Given the description of an element on the screen output the (x, y) to click on. 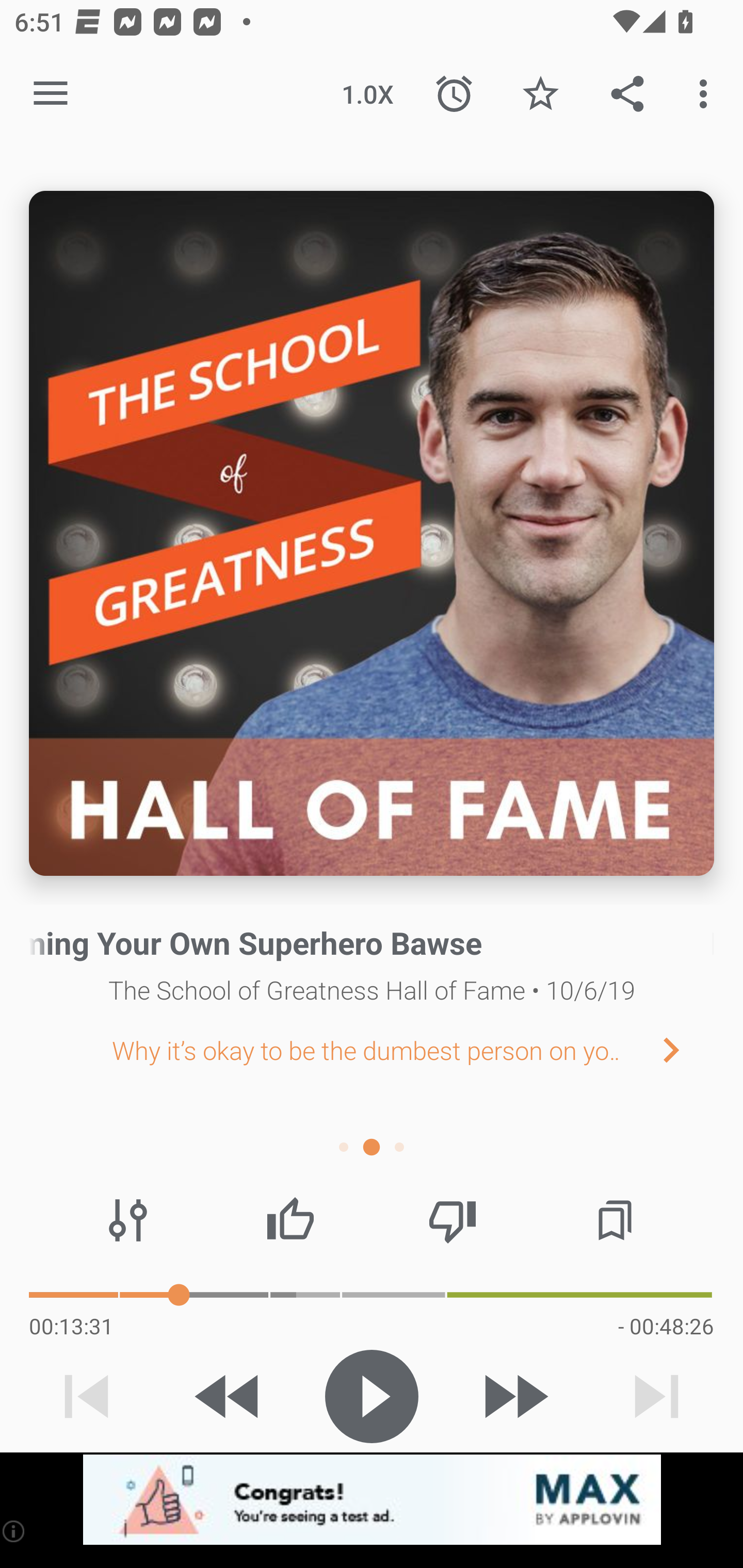
Open navigation sidebar (50, 93)
1.0X (366, 93)
Sleep Timer (453, 93)
Favorite (540, 93)
Share (626, 93)
More options (706, 93)
Episode description (371, 533)
Next Chapter (686, 1049)
Audio effects (127, 1220)
Thumbs up (290, 1220)
Thumbs down (452, 1220)
Chapters / Bookmarks (614, 1220)
- 00:48:26 (666, 1325)
Previous track (86, 1395)
Skip 15s backward (228, 1395)
Play / Pause (371, 1395)
Skip 30s forward (513, 1395)
Next track (656, 1395)
app-monetization (371, 1500)
(i) (14, 1531)
